Given the description of an element on the screen output the (x, y) to click on. 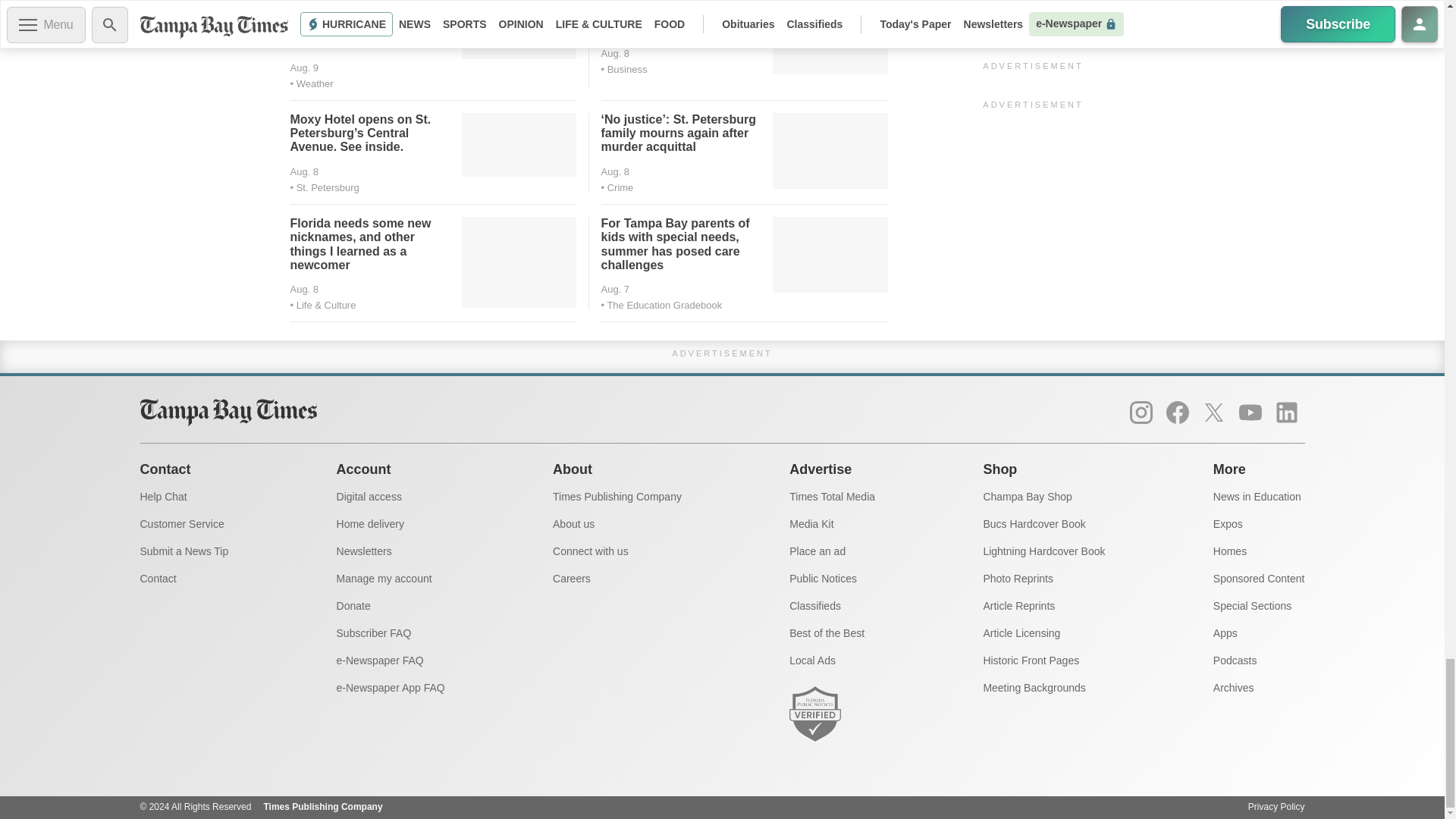
2024-08-08T13:33:15.680Z (613, 53)
2024-08-08T10:35:00Z (303, 171)
2024-08-08T09:30:00Z (613, 171)
2024-08-08T16:08:34.504Z (303, 67)
